Given the description of an element on the screen output the (x, y) to click on. 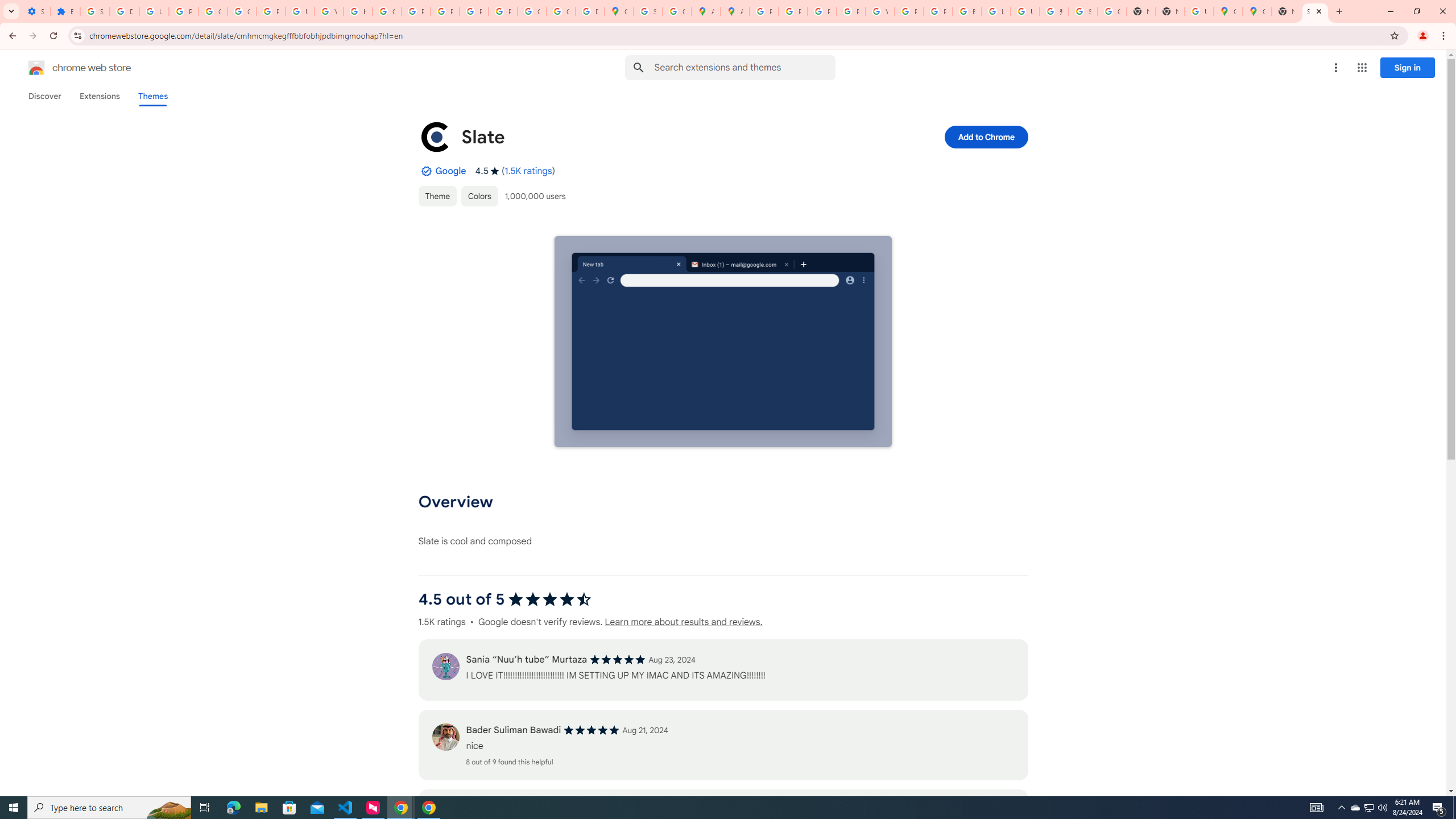
1.5K ratings (527, 170)
Sign in - Google Accounts (1082, 11)
4.5 out of 5 stars (549, 599)
Google Maps (1227, 11)
